Given the description of an element on the screen output the (x, y) to click on. 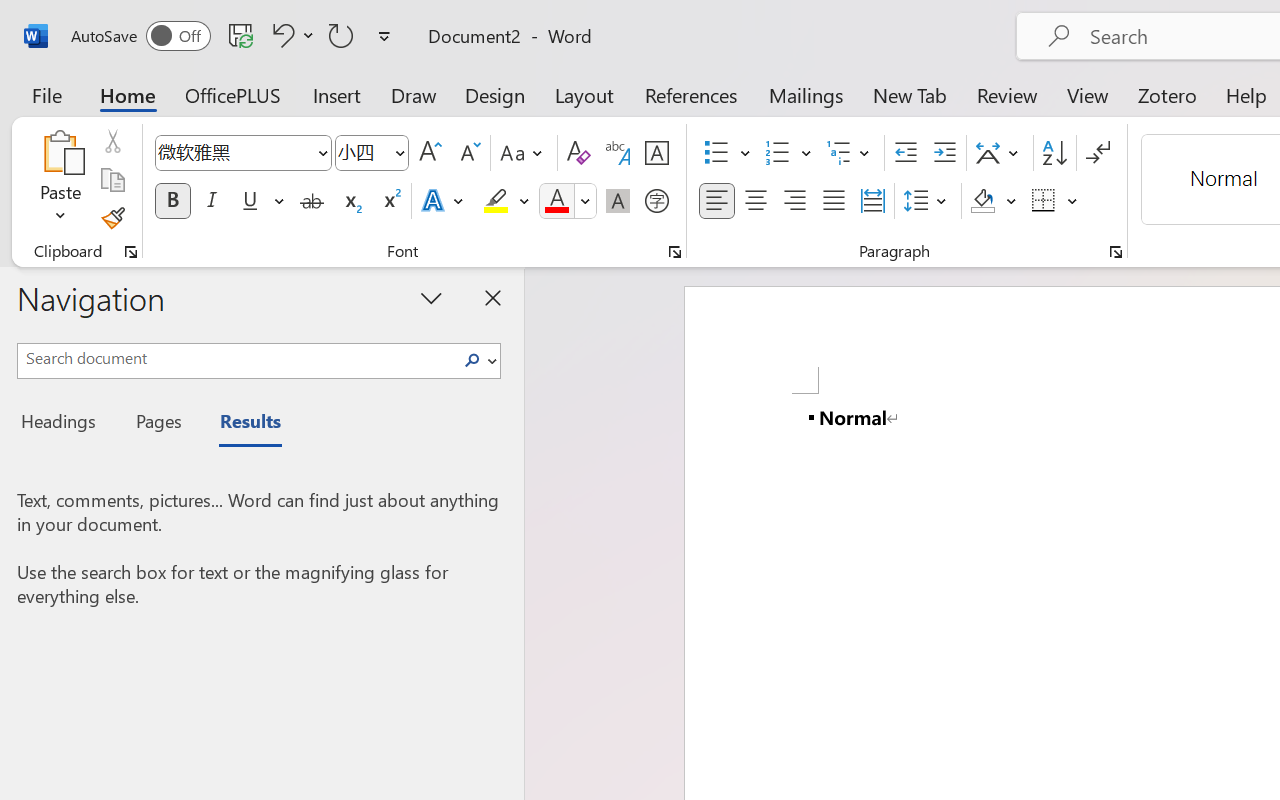
Show/Hide Editing Marks (1098, 153)
AutoSave (140, 35)
Office Clipboard... (131, 252)
Format Painter (112, 218)
Distributed (872, 201)
New Tab (909, 94)
Paste (60, 179)
Home (127, 94)
Results (240, 424)
Increase Indent (944, 153)
Line and Paragraph Spacing (927, 201)
Paste (60, 151)
Font Color Red (556, 201)
Italic (212, 201)
Font Size (362, 152)
